Given the description of an element on the screen output the (x, y) to click on. 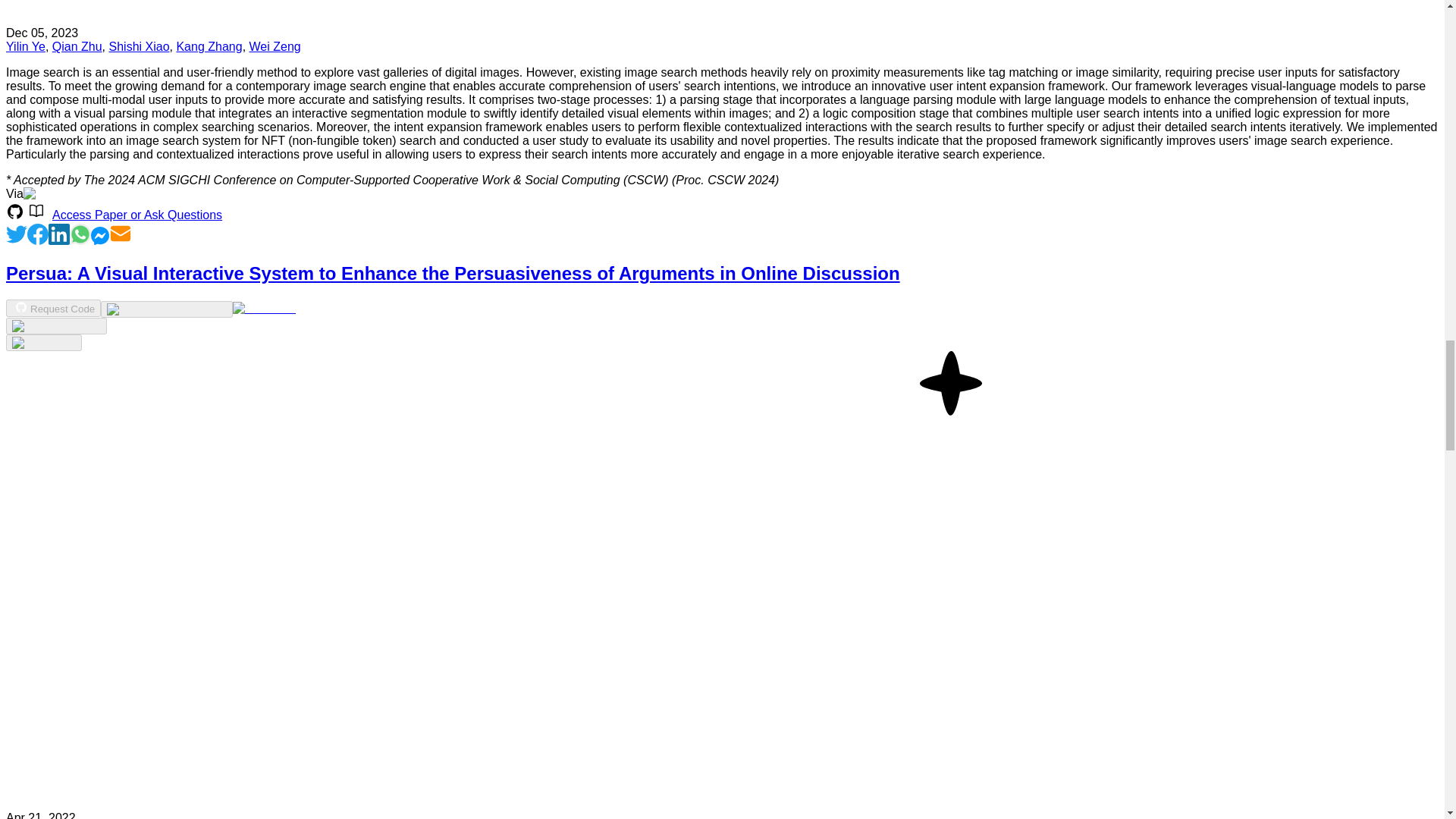
Twitter Icon (16, 233)
Yilin Ye (25, 46)
Shishi Xiao (139, 46)
Github Icon (14, 211)
Qian Zhu (76, 46)
Bookmark this paper (55, 325)
Send via Messenger (99, 240)
Get alerts when new code is available for this paper (43, 342)
View code for similar papers (165, 309)
Wei Zeng (274, 46)
Facebook Icon (37, 233)
Contribute your code for this paper to the community (264, 308)
Linkedin Icon (58, 233)
Kang Zhang (208, 46)
Share via Email (120, 240)
